Given the description of an element on the screen output the (x, y) to click on. 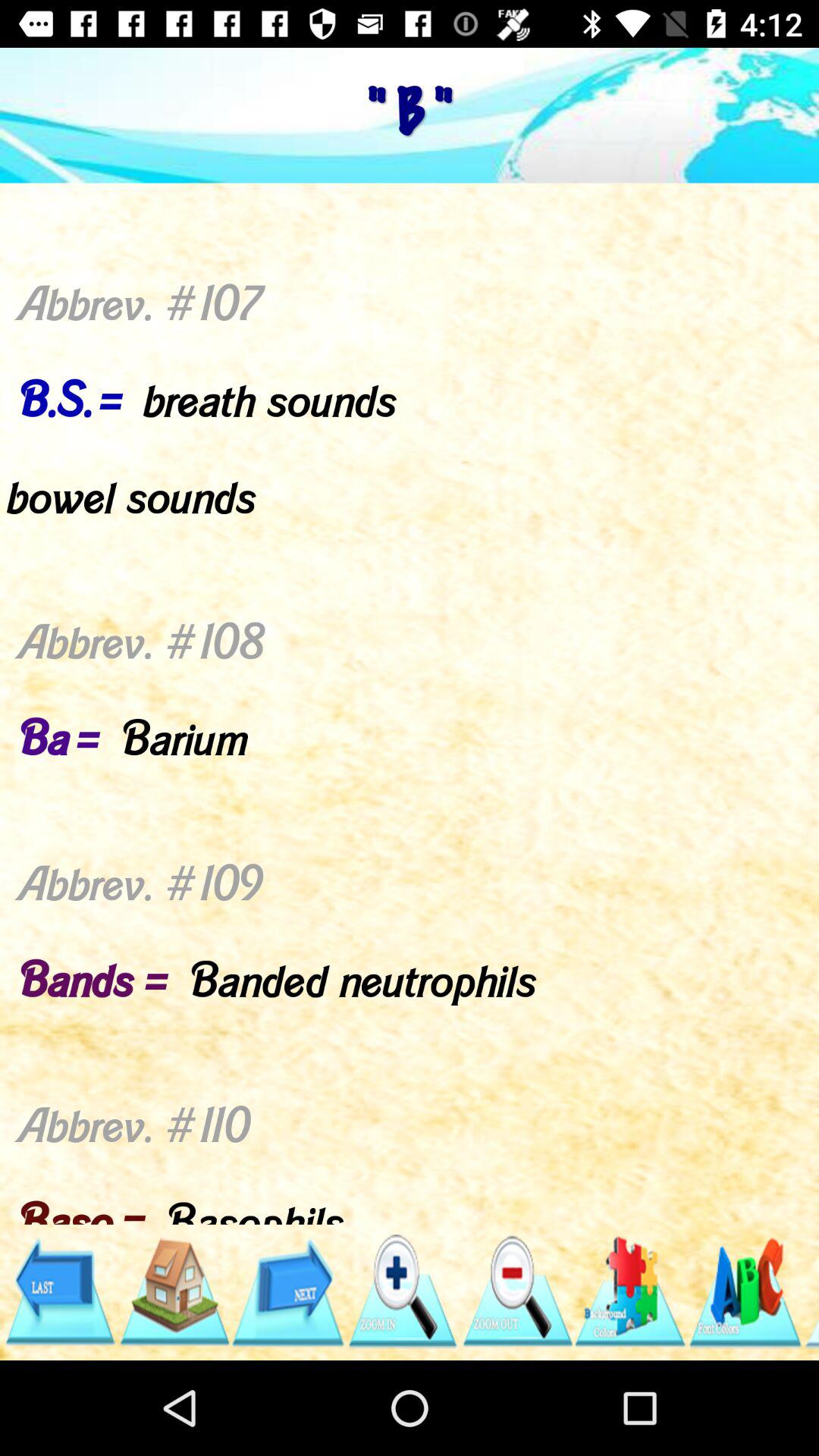
click icon (402, 1291)
